Given the description of an element on the screen output the (x, y) to click on. 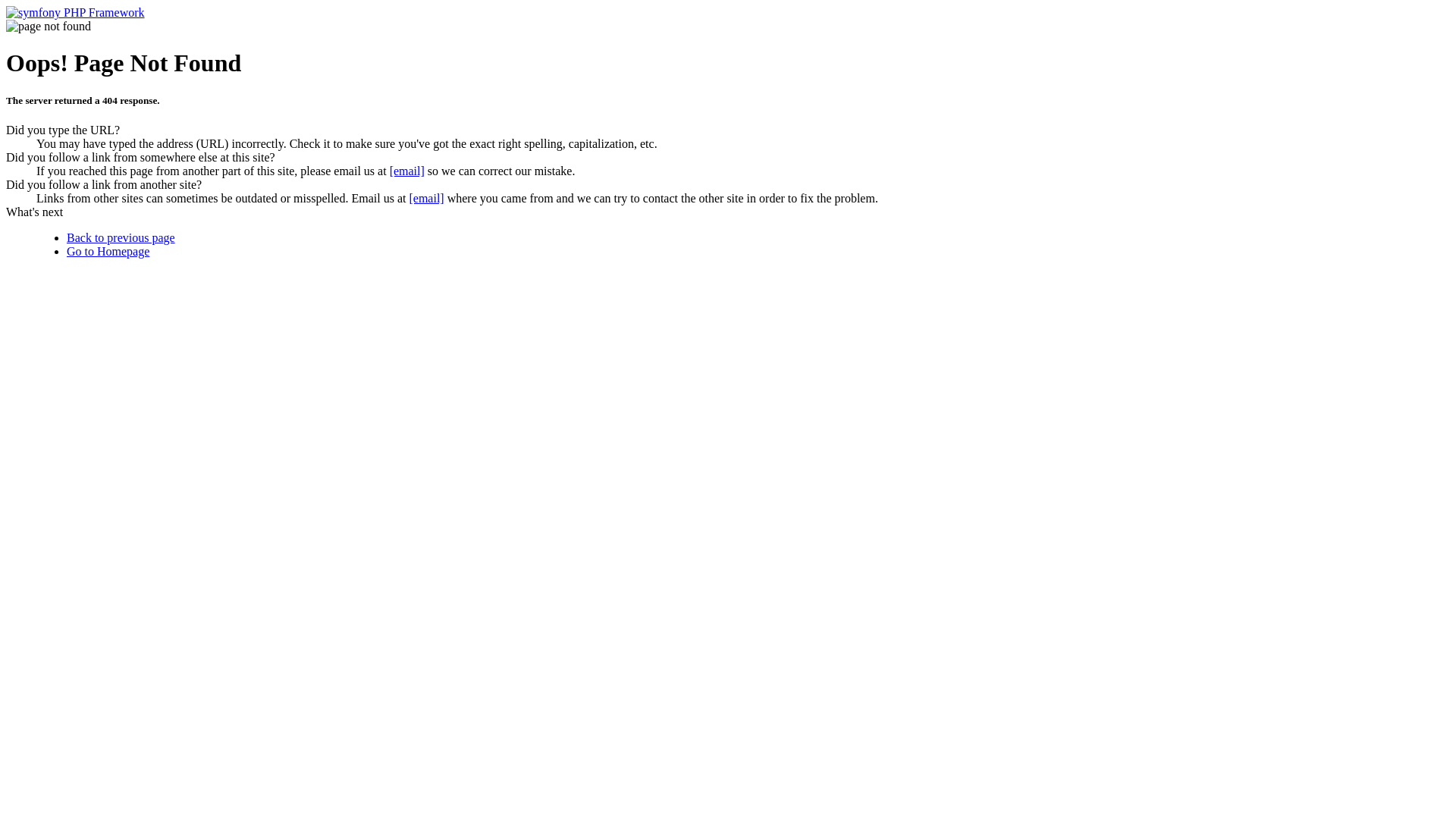
Go to Homepage Element type: text (107, 250)
[email] Element type: text (406, 170)
Back to previous page Element type: text (120, 237)
[email] Element type: text (425, 197)
